Given the description of an element on the screen output the (x, y) to click on. 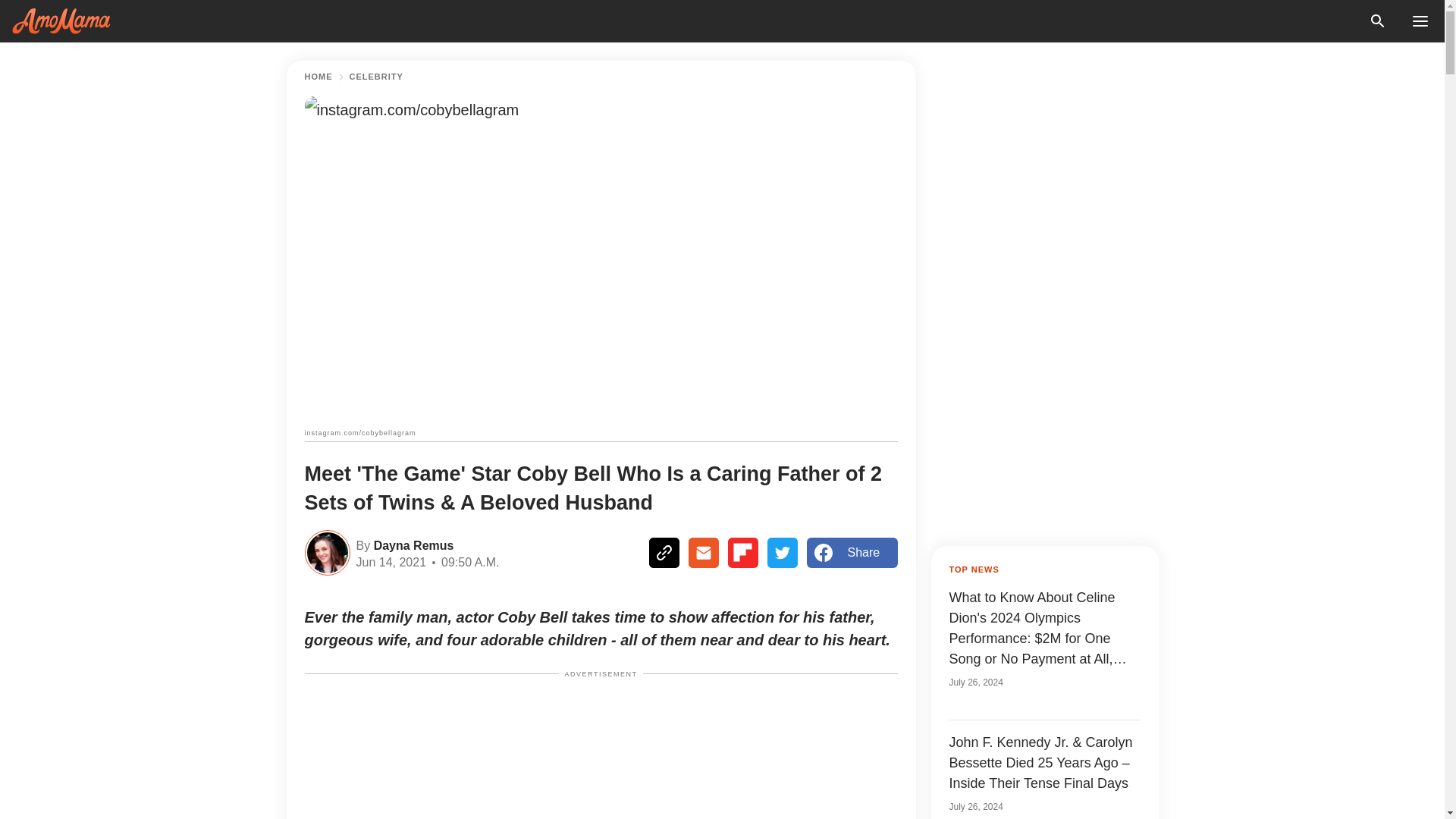
CELEBRITY (376, 76)
Dayna Remus (410, 544)
HOME (318, 76)
